Given the description of an element on the screen output the (x, y) to click on. 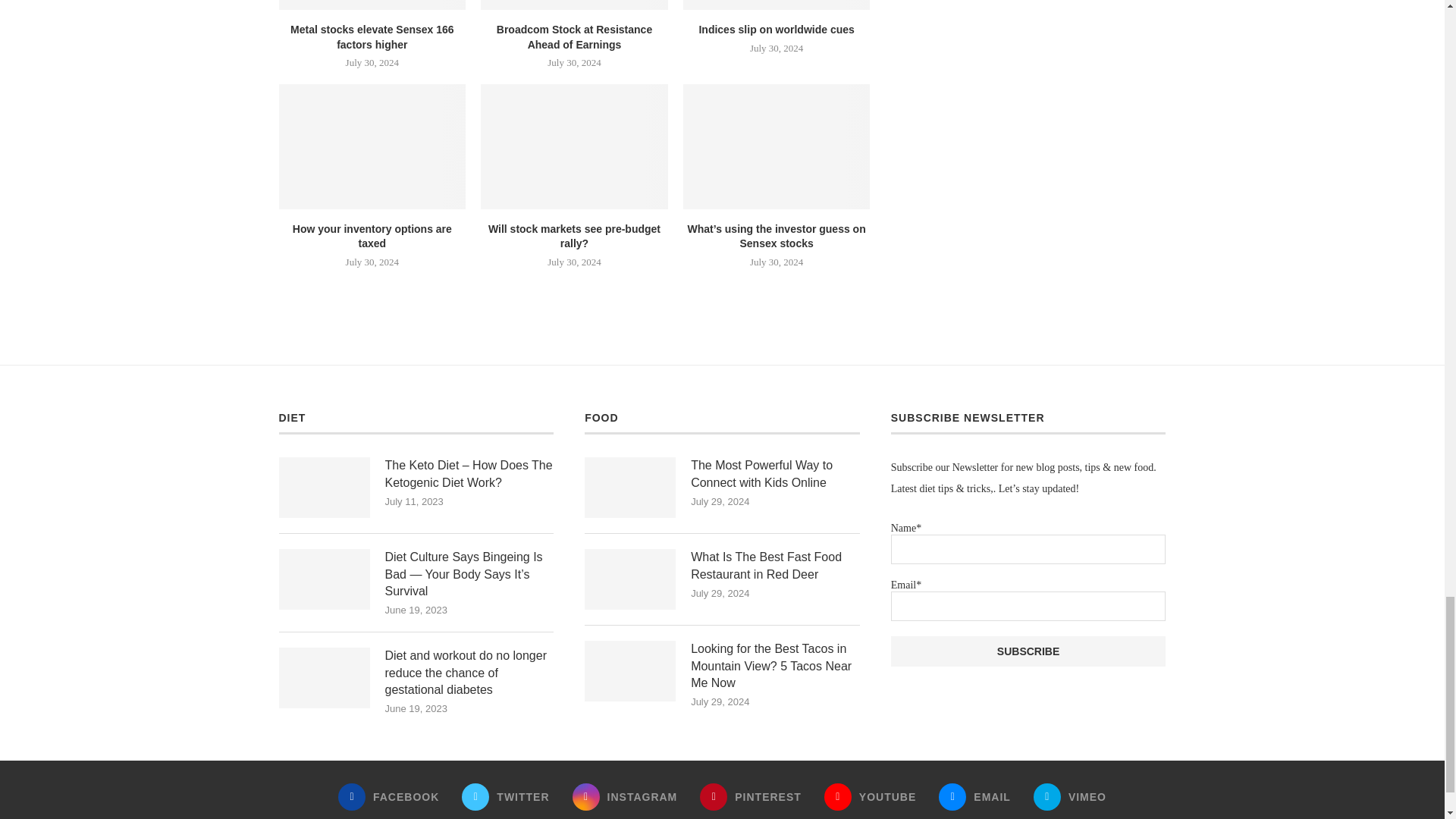
How your inventory options are taxed (372, 146)
Subscribe (1028, 651)
Broadcom Stock at Resistance Ahead of Earnings (574, 4)
Metal stocks elevate Sensex 166 factors higher (372, 4)
Will stock markets see pre-budget rally? (574, 146)
Indices slip on worldwide cues (776, 4)
